Given the description of an element on the screen output the (x, y) to click on. 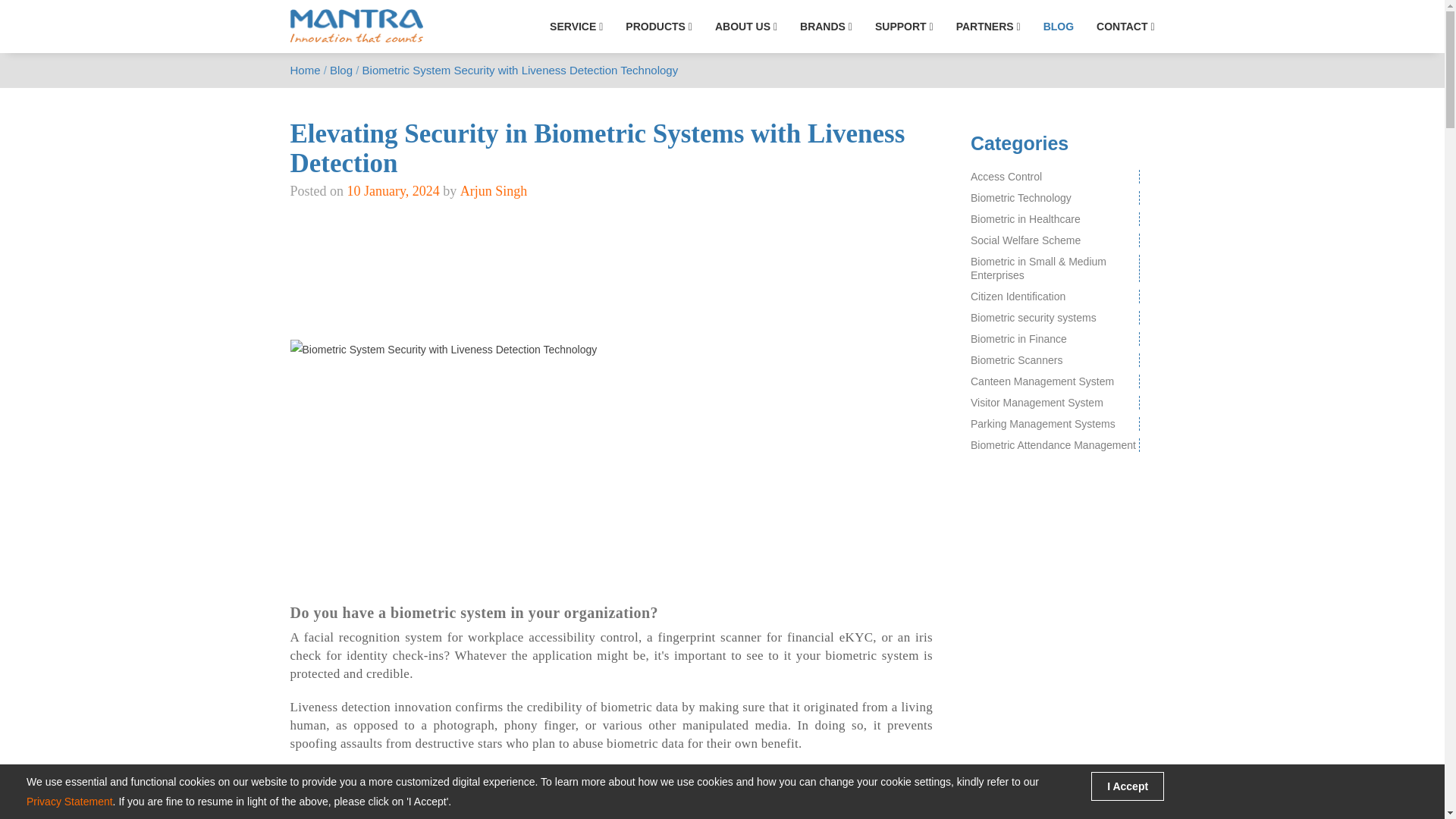
SERVICE (576, 26)
Biometric System Security with Liveness Detection Technology (611, 349)
mantra (355, 25)
